Given the description of an element on the screen output the (x, y) to click on. 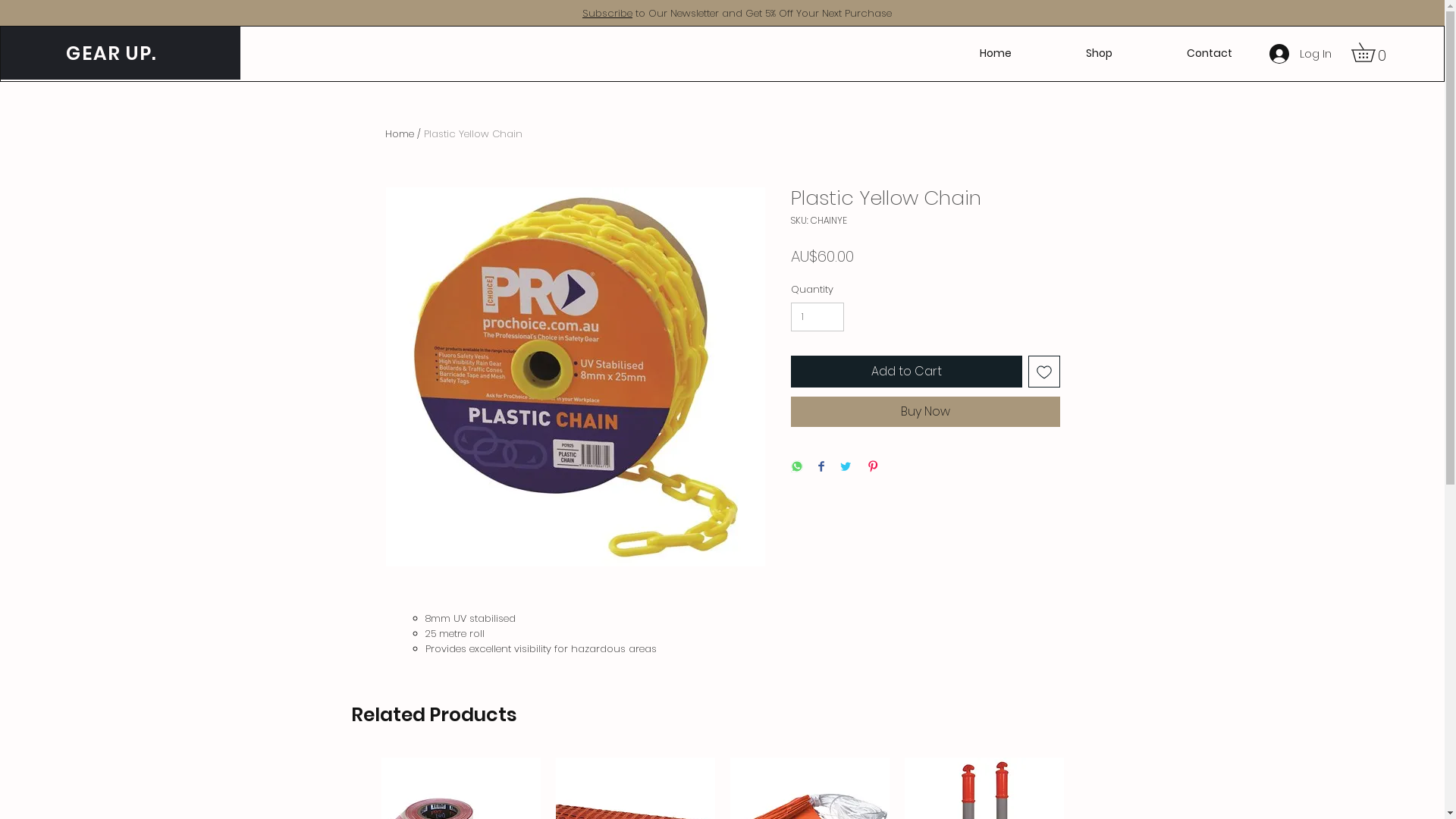
0 Element type: text (1372, 52)
 GEAR UP. Element type: text (108, 53)
Shop Element type: text (1098, 53)
Log In Element type: text (1300, 53)
Home Element type: text (994, 53)
Buy Now Element type: text (924, 411)
Subscribe Element type: text (607, 13)
Contact Element type: text (1209, 53)
Add to Cart Element type: text (905, 371)
Plastic Yellow Chain Element type: text (472, 133)
Home Element type: text (399, 133)
 to Our Newsletter and Get 5% Off Your Next Purchase Element type: text (761, 13)
